Given the description of an element on the screen output the (x, y) to click on. 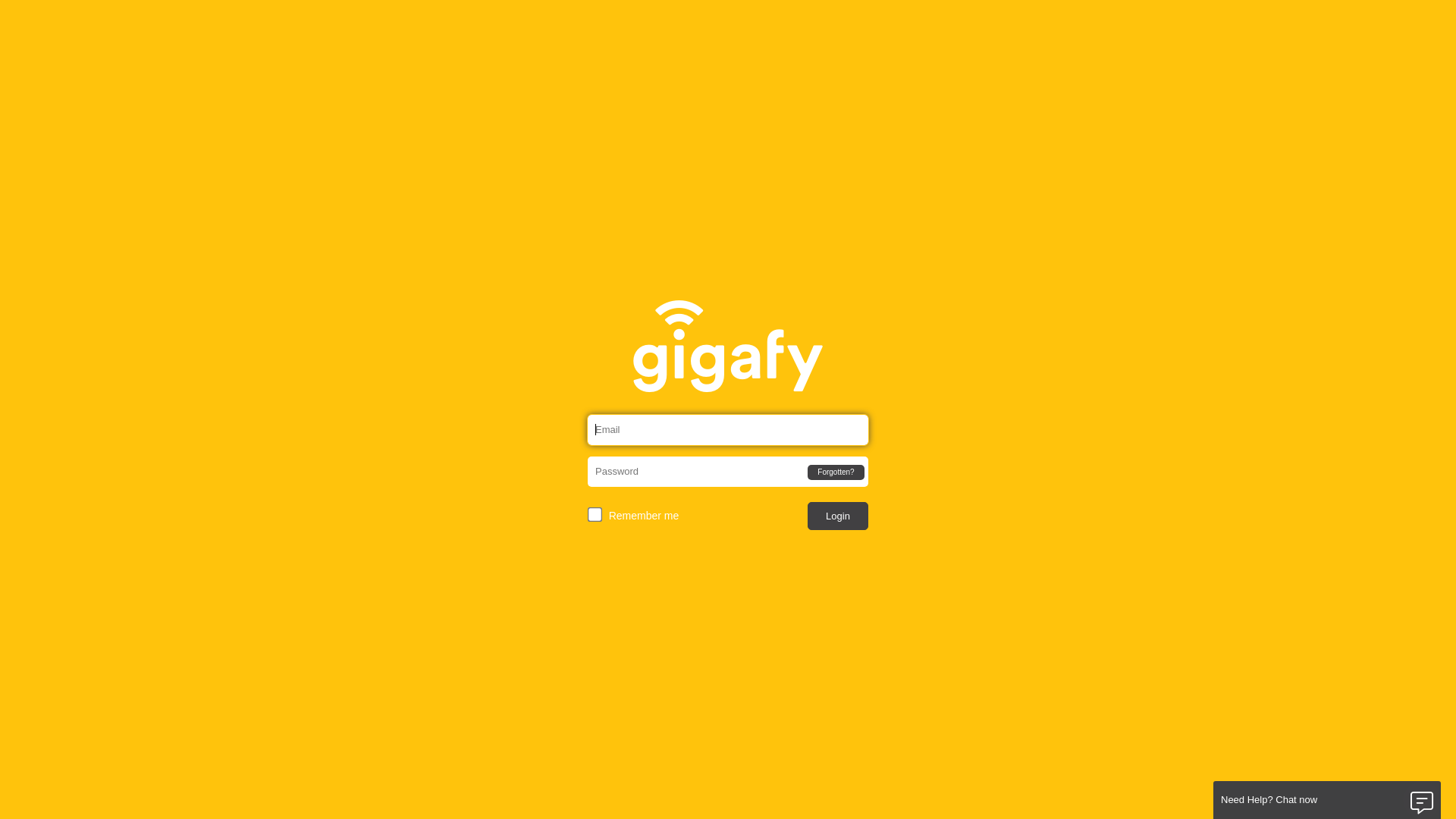
Login Element type: text (837, 516)
